Given the description of an element on the screen output the (x, y) to click on. 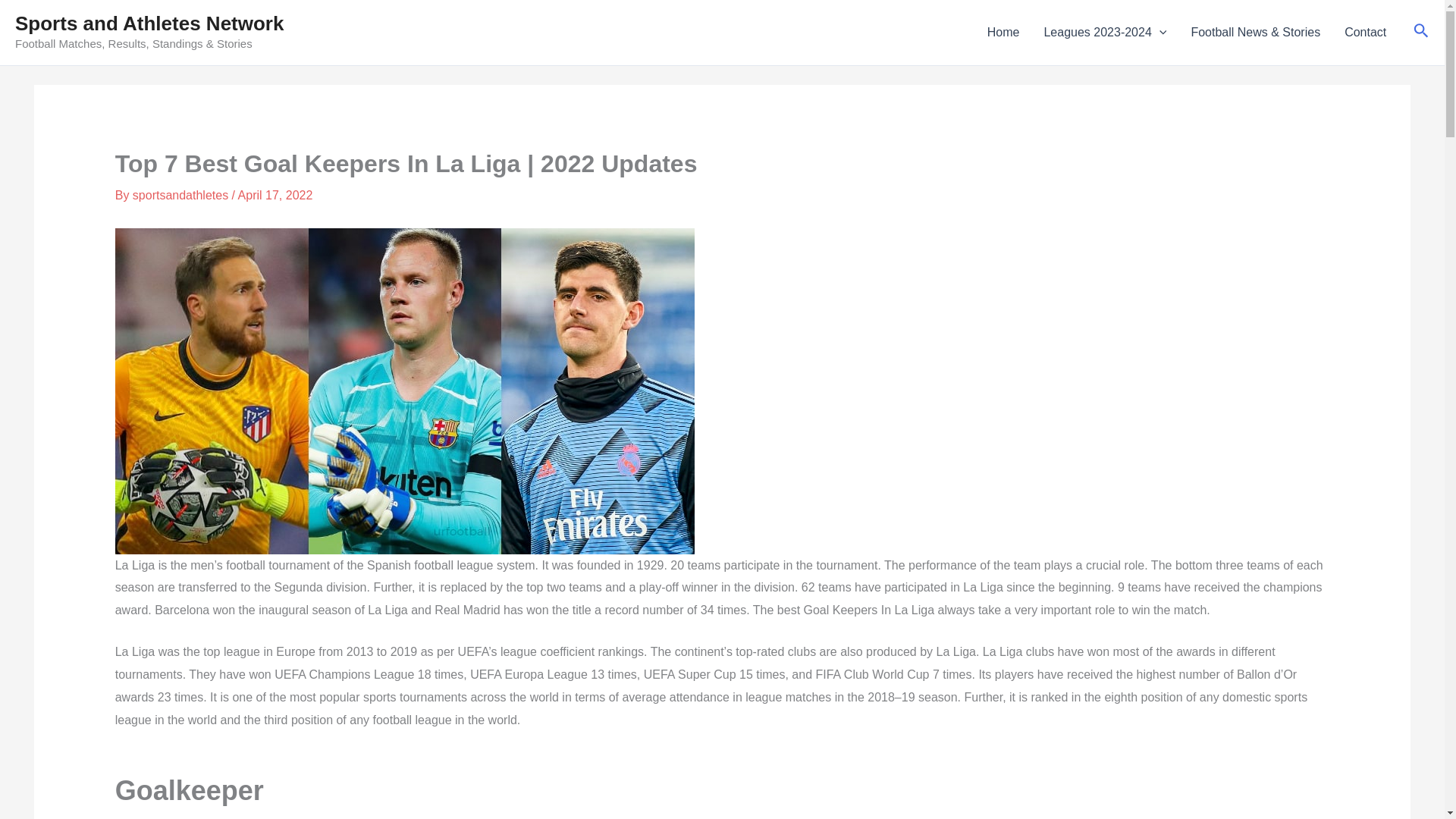
Sports and Athletes Network (148, 23)
Home (1003, 32)
Leagues 2023-2024 (1103, 32)
View all posts by sportsandathletes (181, 195)
Contact (1364, 32)
sportsandathletes (181, 195)
